Given the description of an element on the screen output the (x, y) to click on. 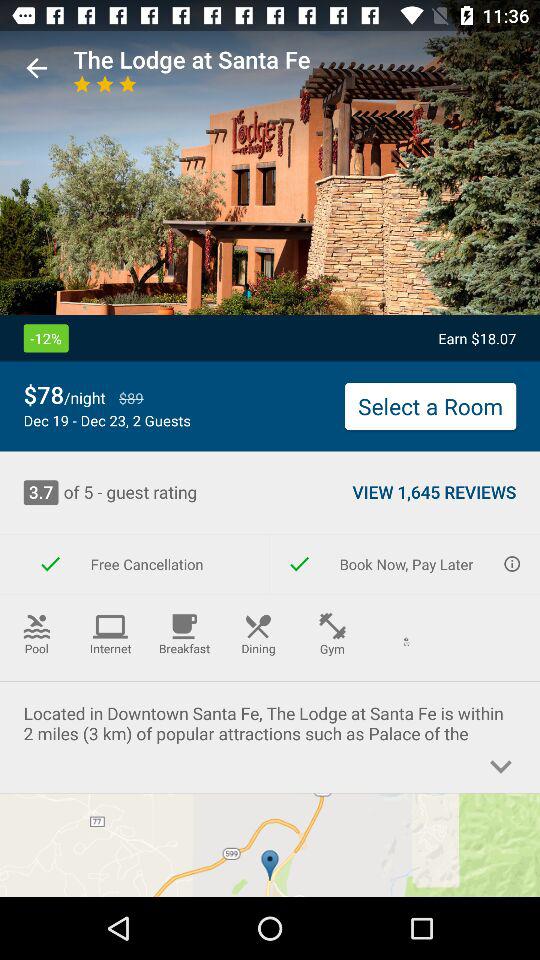
tap item to the right of the free cancellation (405, 563)
